Given the description of an element on the screen output the (x, y) to click on. 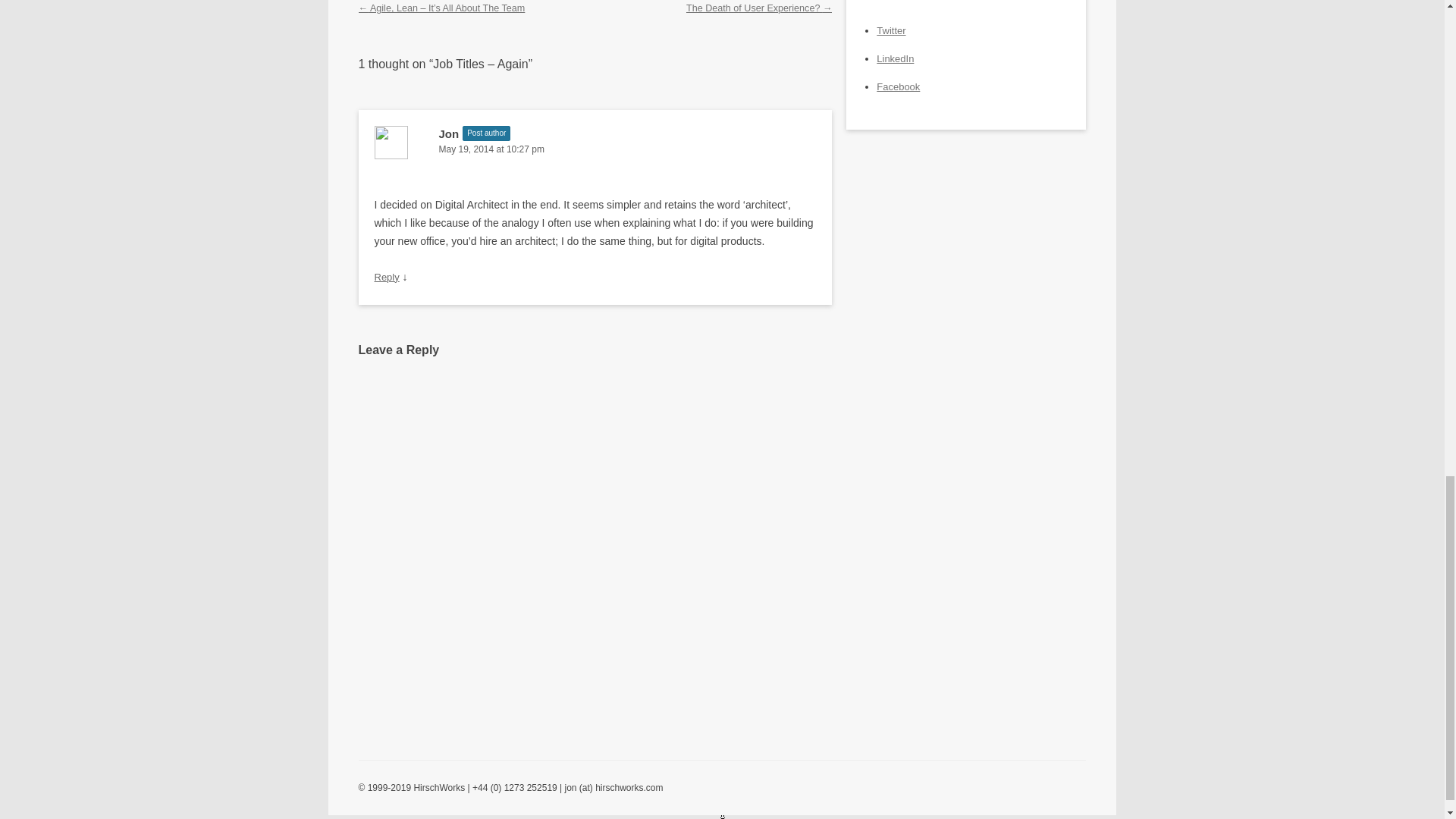
Twitter (890, 30)
Reply (386, 276)
May 19, 2014 at 10:27 pm (595, 149)
